Given the description of an element on the screen output the (x, y) to click on. 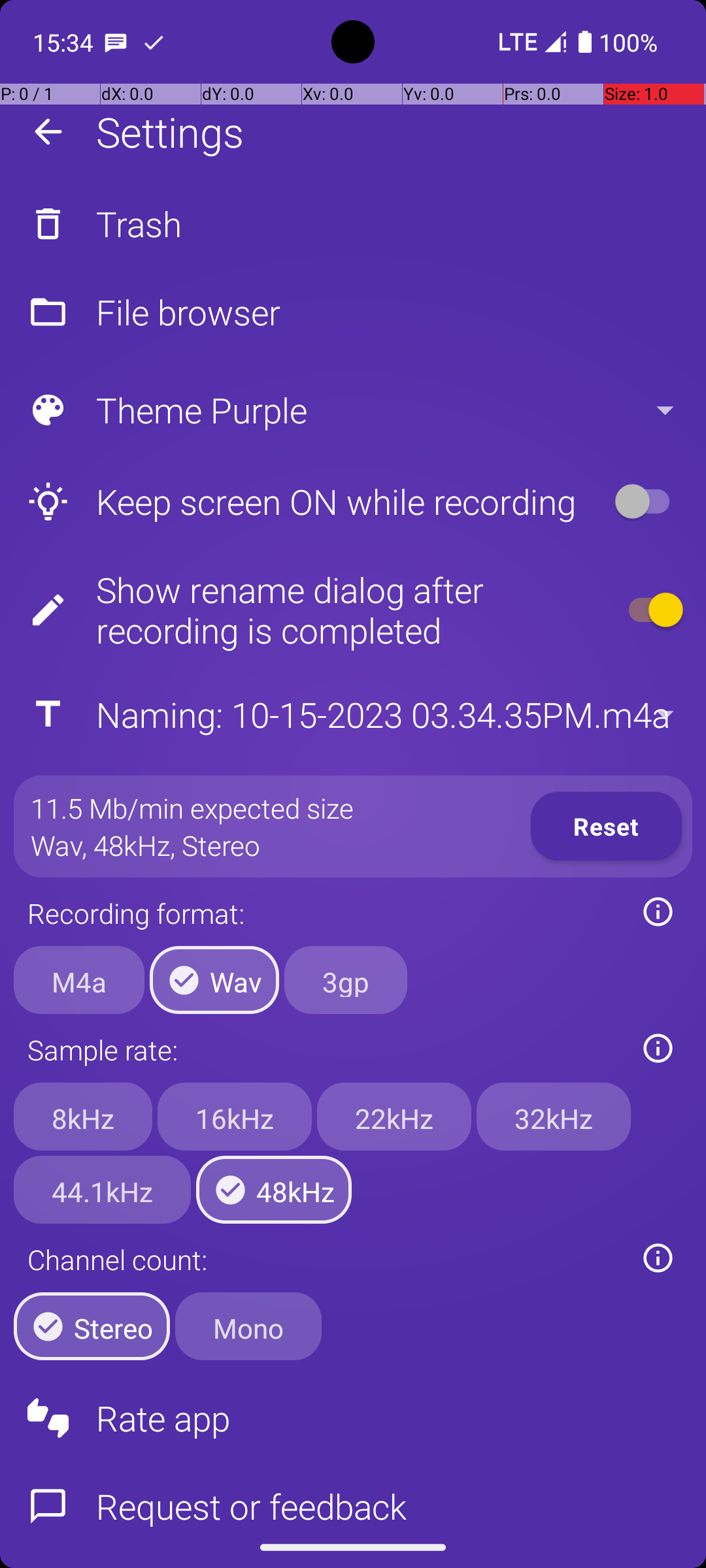
File browser Element type: android.widget.TextView (353, 311)
Keep screen ON while recording Element type: android.widget.TextView (304, 501)
Show rename dialog after recording is completed Element type: android.widget.TextView (304, 609)
11.5 Mb/min expected size Element type: android.widget.TextView (191, 807)
Wav, 48kHz, Stereo Element type: android.widget.TextView (145, 844)
Rate app Element type: android.widget.TextView (353, 1417)
Request or feedback Element type: android.widget.TextView (353, 1494)
Theme Purple Element type: android.widget.TextView (352, 409)
Naming: 10-15-2023 03.34.35PM.m4a Element type: android.widget.TextView (352, 714)
SMS Messenger notification: Daniel Ali Element type: android.widget.ImageView (115, 41)
Contacts notification: Finished exporting contacts.vcf. Element type: android.widget.ImageView (153, 41)
